Given the description of an element on the screen output the (x, y) to click on. 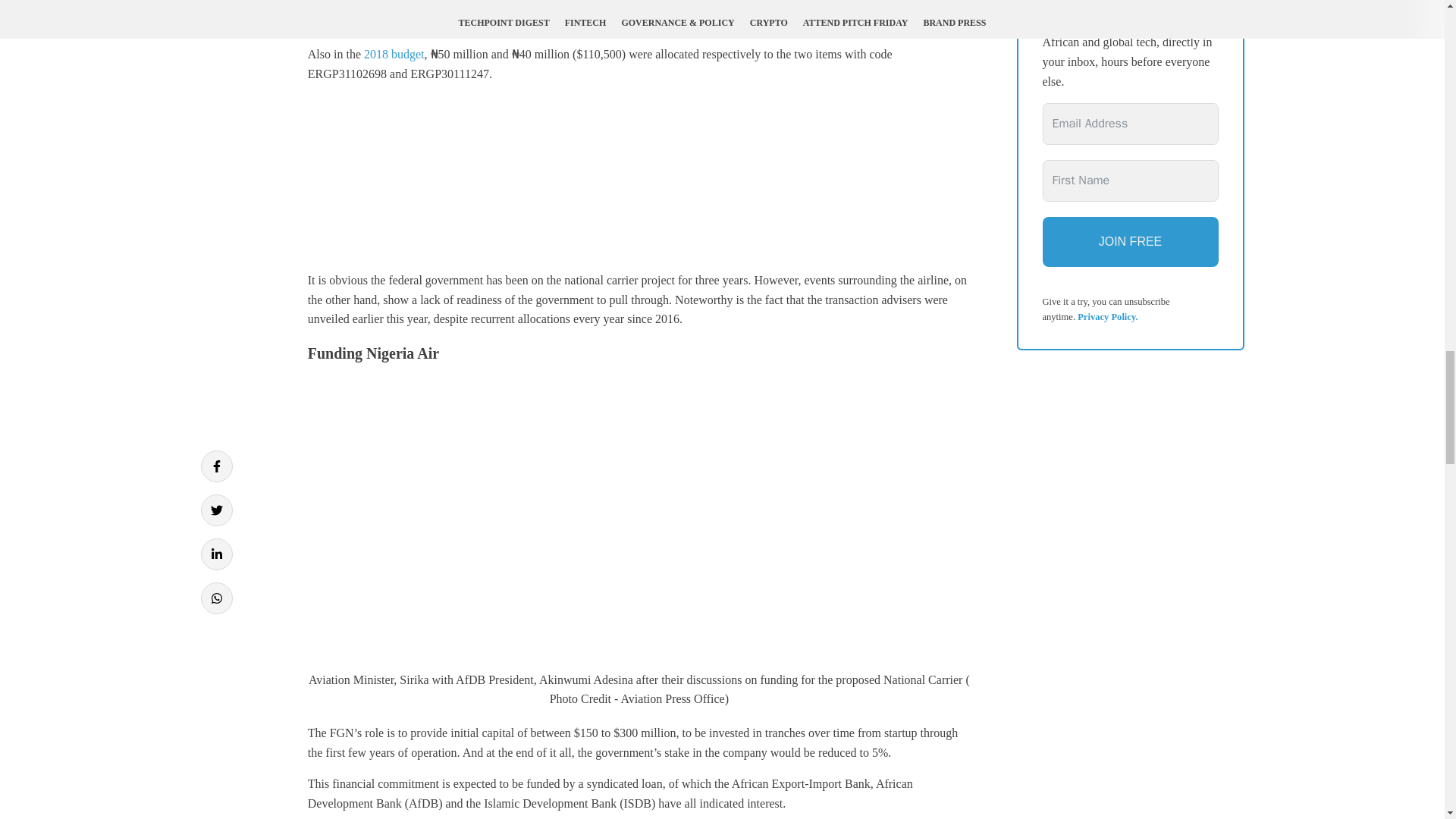
2018 budget (394, 53)
